Given the description of an element on the screen output the (x, y) to click on. 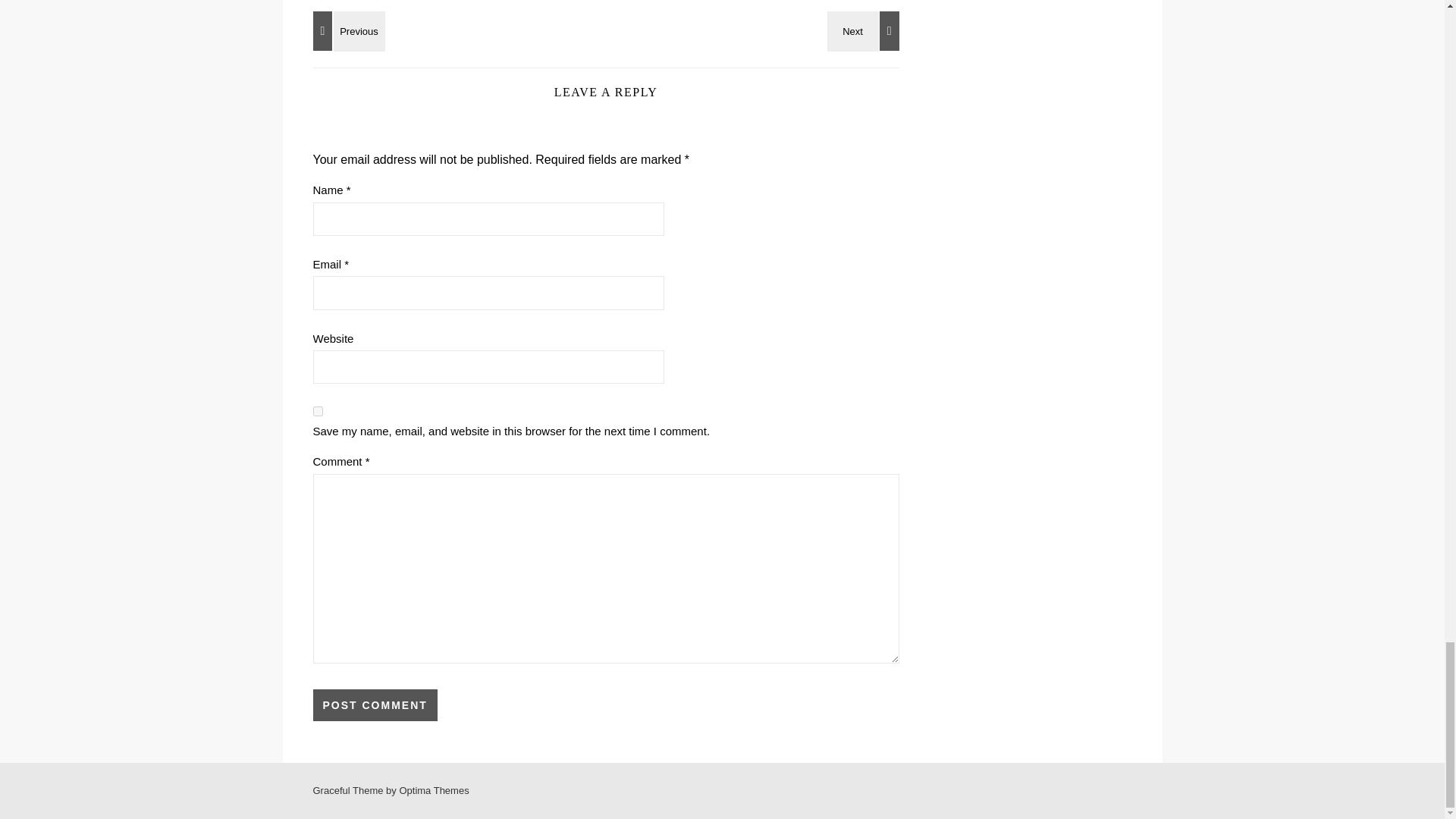
Post Comment (374, 705)
yes (317, 411)
Post Comment (374, 705)
